Given the description of an element on the screen output the (x, y) to click on. 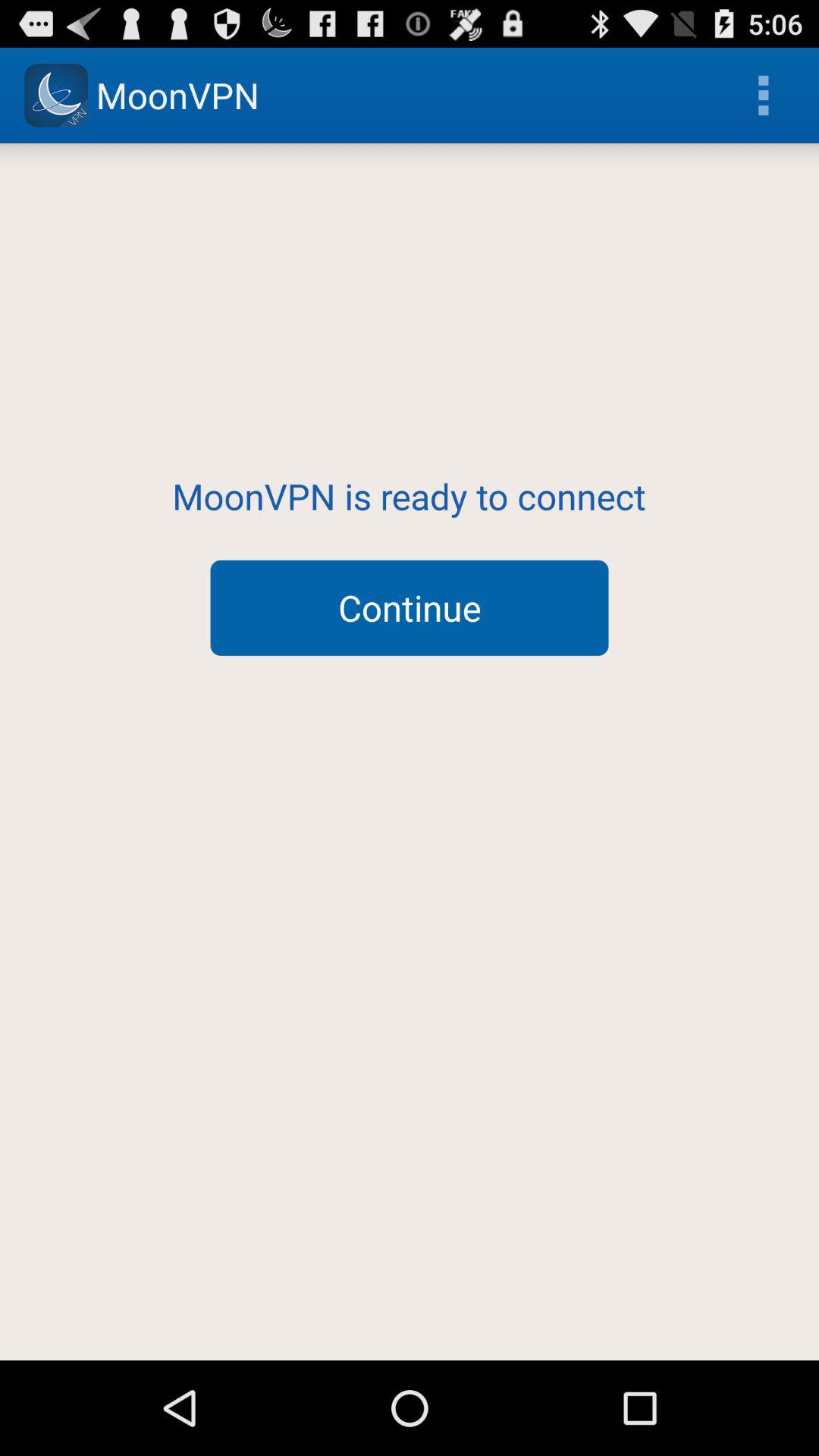
turn off the icon at the top right corner (763, 95)
